Given the description of an element on the screen output the (x, y) to click on. 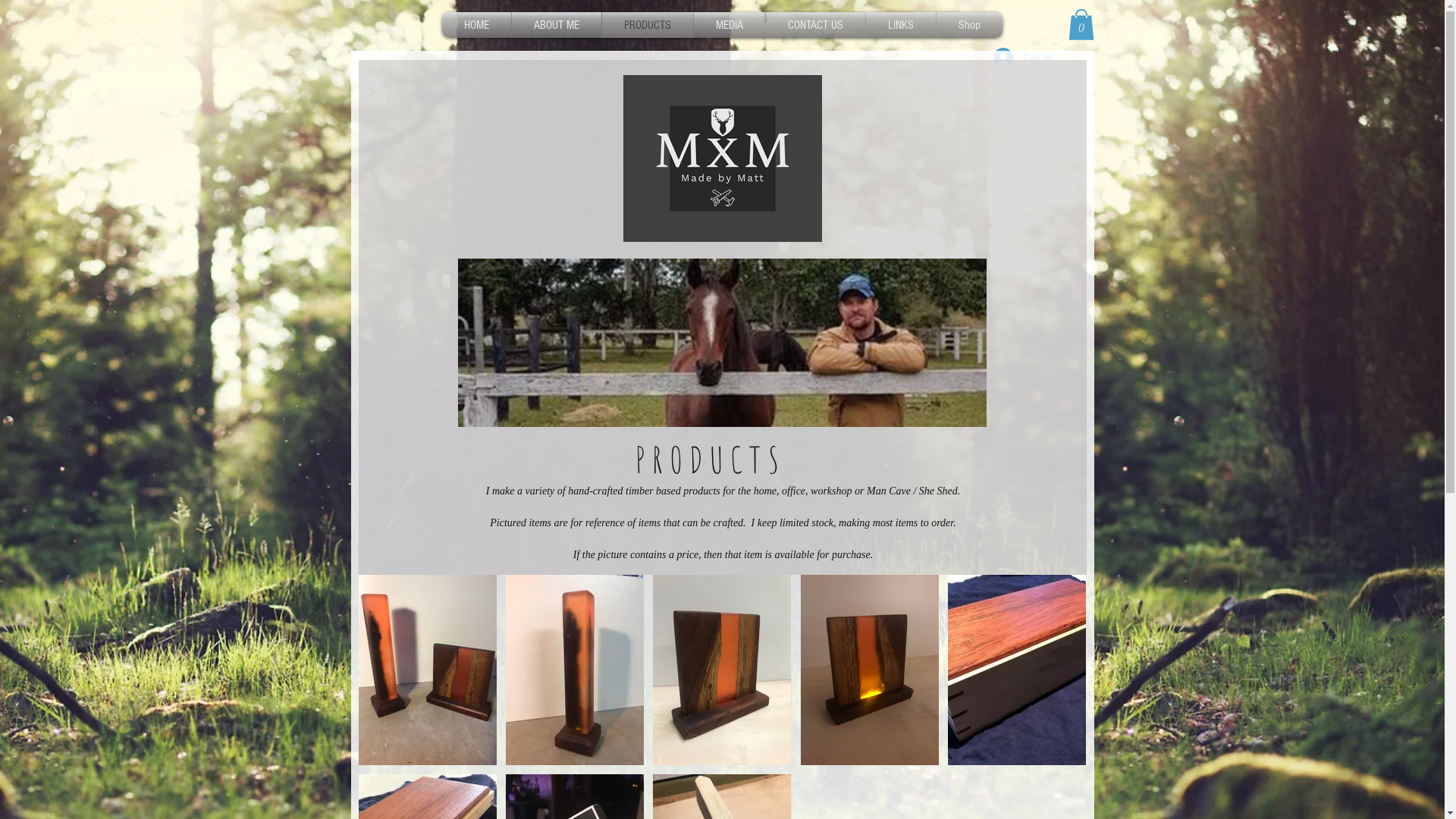
HOME Element type: text (475, 24)
MEDIA Element type: text (728, 24)
CONTACT US Element type: text (815, 24)
Shop Element type: text (968, 24)
LINKS Element type: text (900, 24)
0 Element type: text (1080, 24)
ABOUT ME Element type: text (555, 24)
PRODUCTS Element type: text (647, 24)
Log In Element type: text (1022, 57)
